Given the description of an element on the screen output the (x, y) to click on. 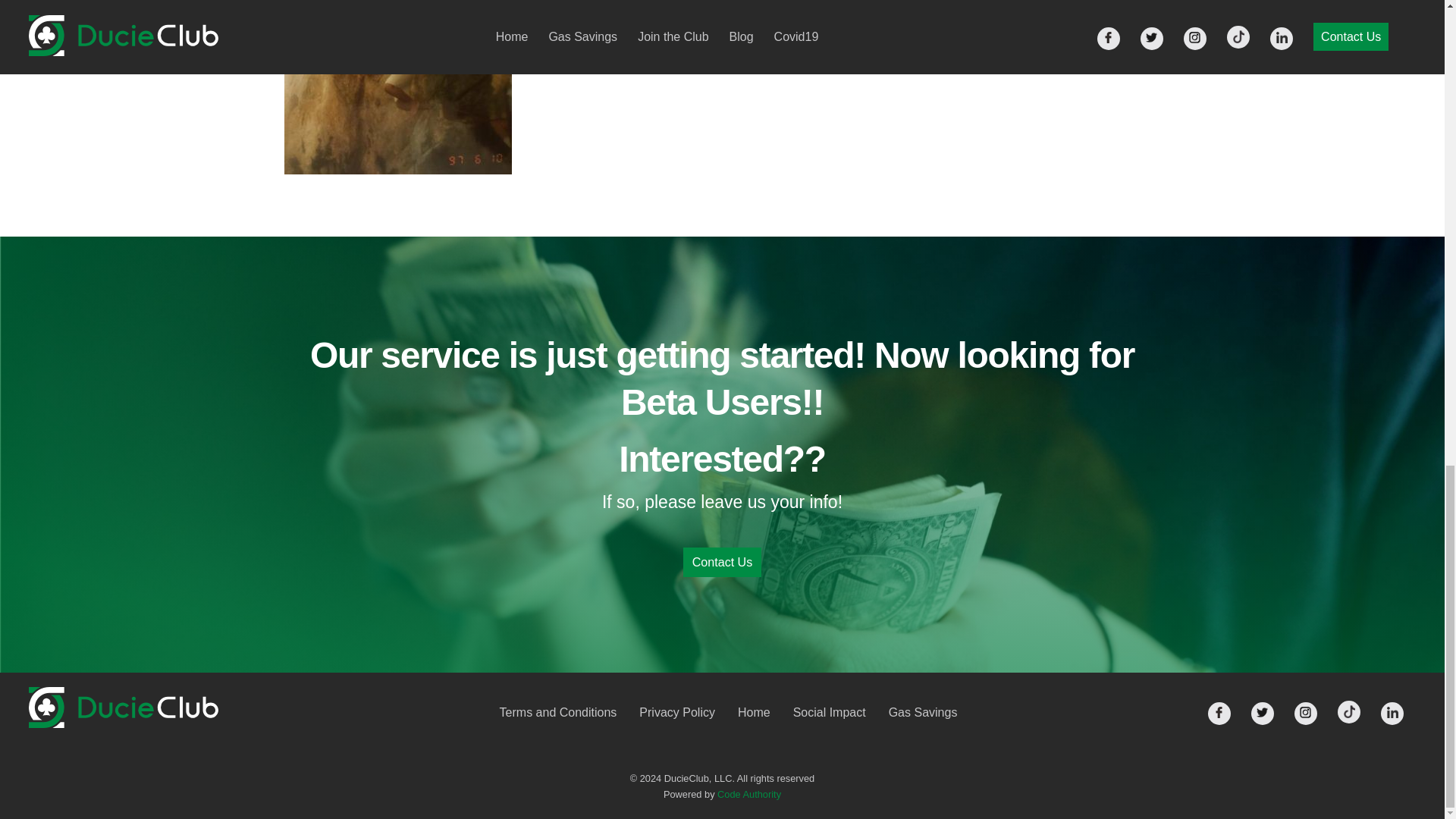
Terms and Conditions (558, 712)
Social Impact (829, 712)
Home (754, 712)
Contact Us (721, 562)
Gas Savings (923, 712)
Privacy Policy (676, 712)
